Given the description of an element on the screen output the (x, y) to click on. 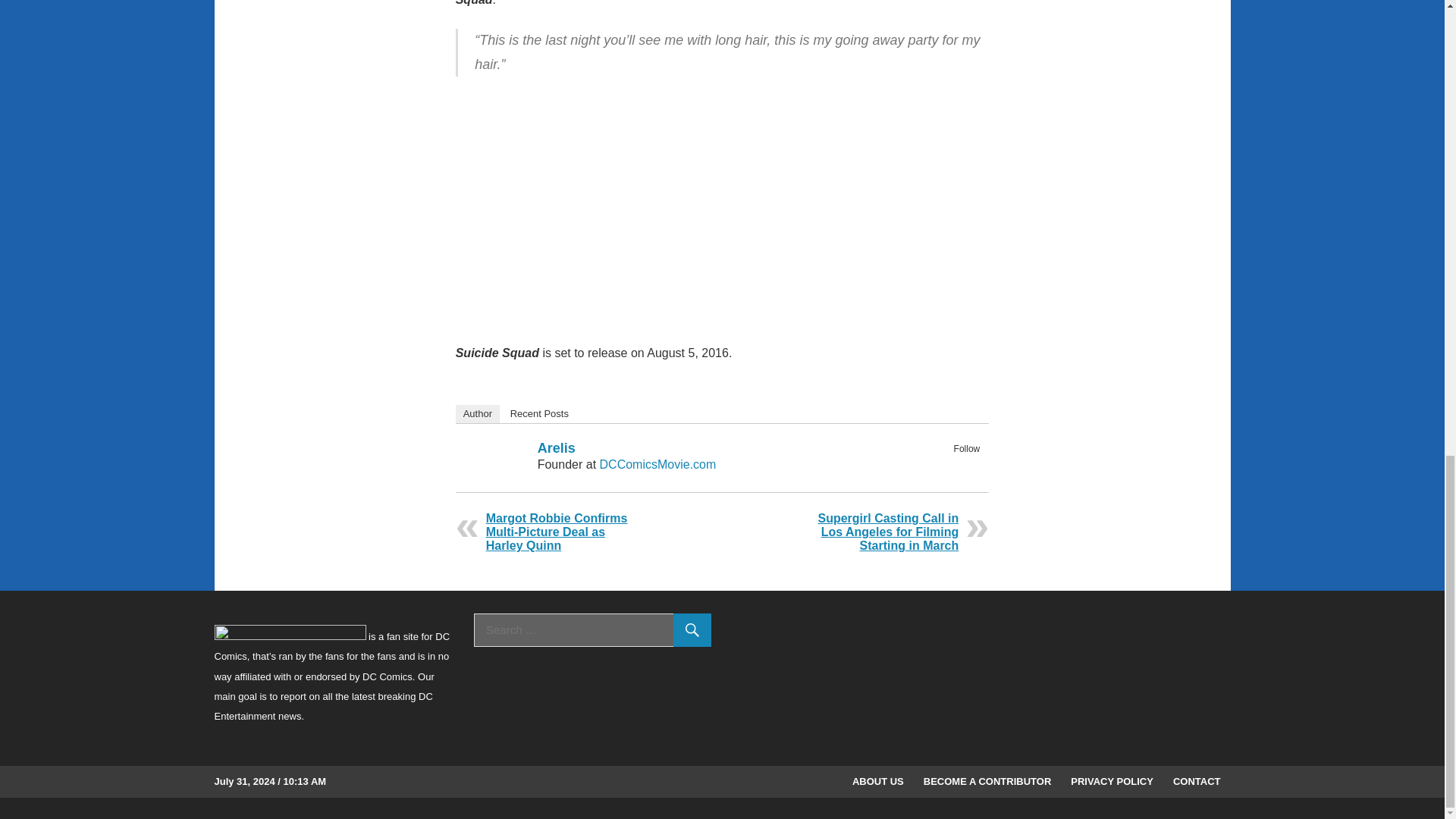
Arelis (556, 447)
DCComicsMovie.com (657, 463)
Author (477, 413)
Facebook (949, 466)
Twitter (969, 466)
Recent Posts (539, 413)
Search for: (592, 630)
Margot Robbie Confirms Multi-Picture Deal as Harley Quinn (556, 531)
